Given the description of an element on the screen output the (x, y) to click on. 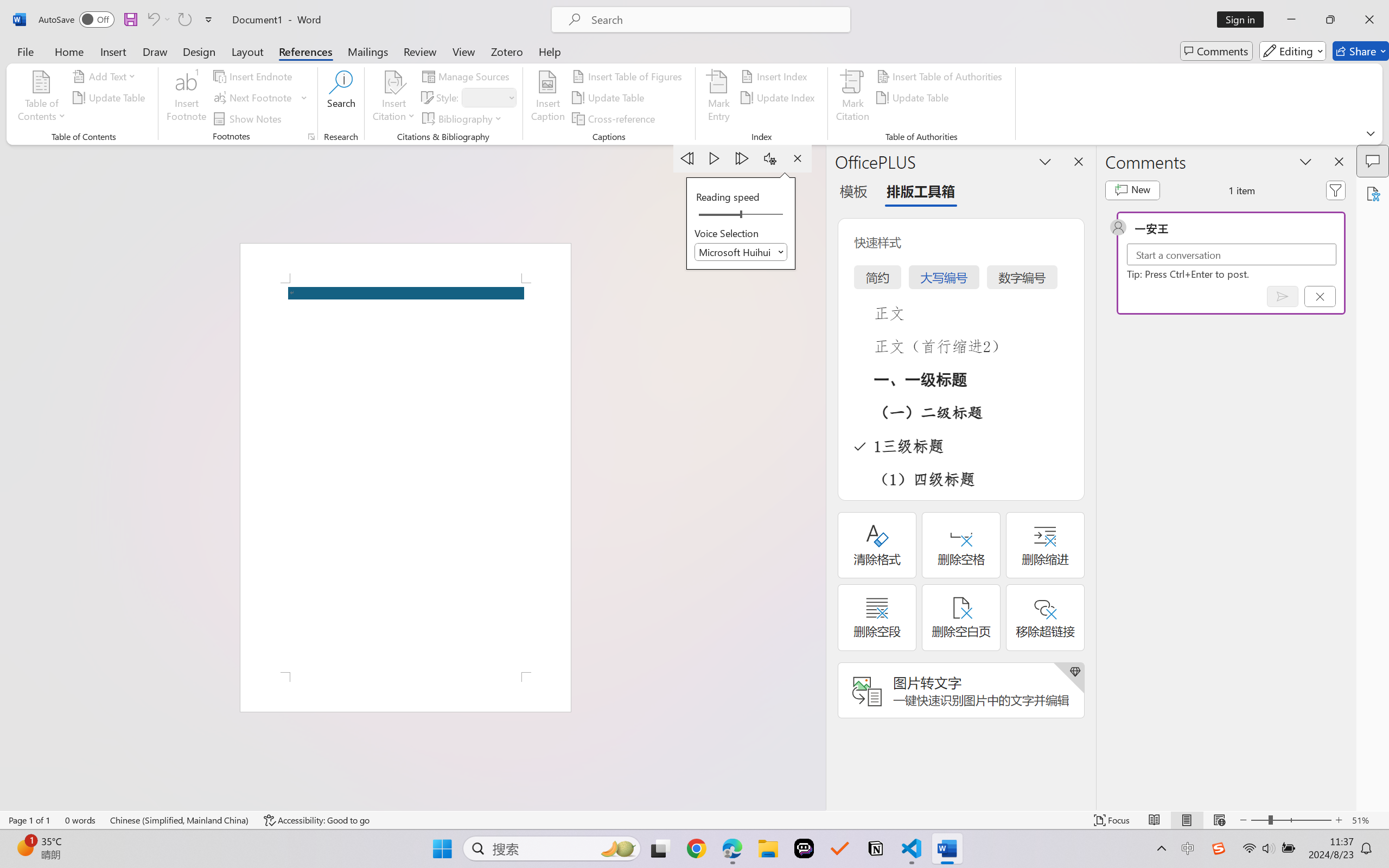
Stop (797, 158)
Bibliography (463, 118)
Previous Paragraph (687, 158)
Editing (1292, 50)
Insert Table of Figures... (628, 75)
